Given the description of an element on the screen output the (x, y) to click on. 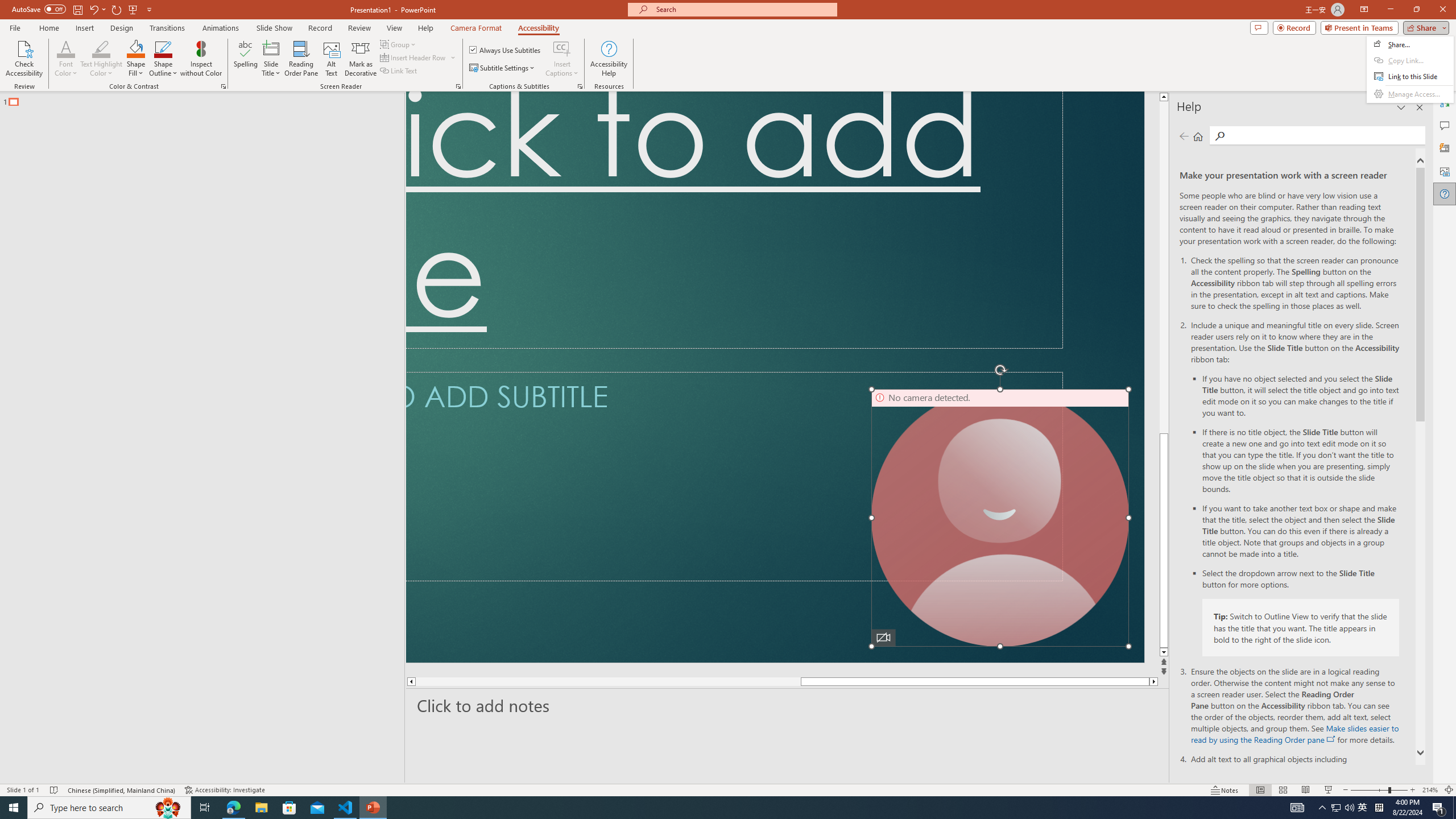
Link Text (399, 69)
Screen Reader (458, 85)
